Given the description of an element on the screen output the (x, y) to click on. 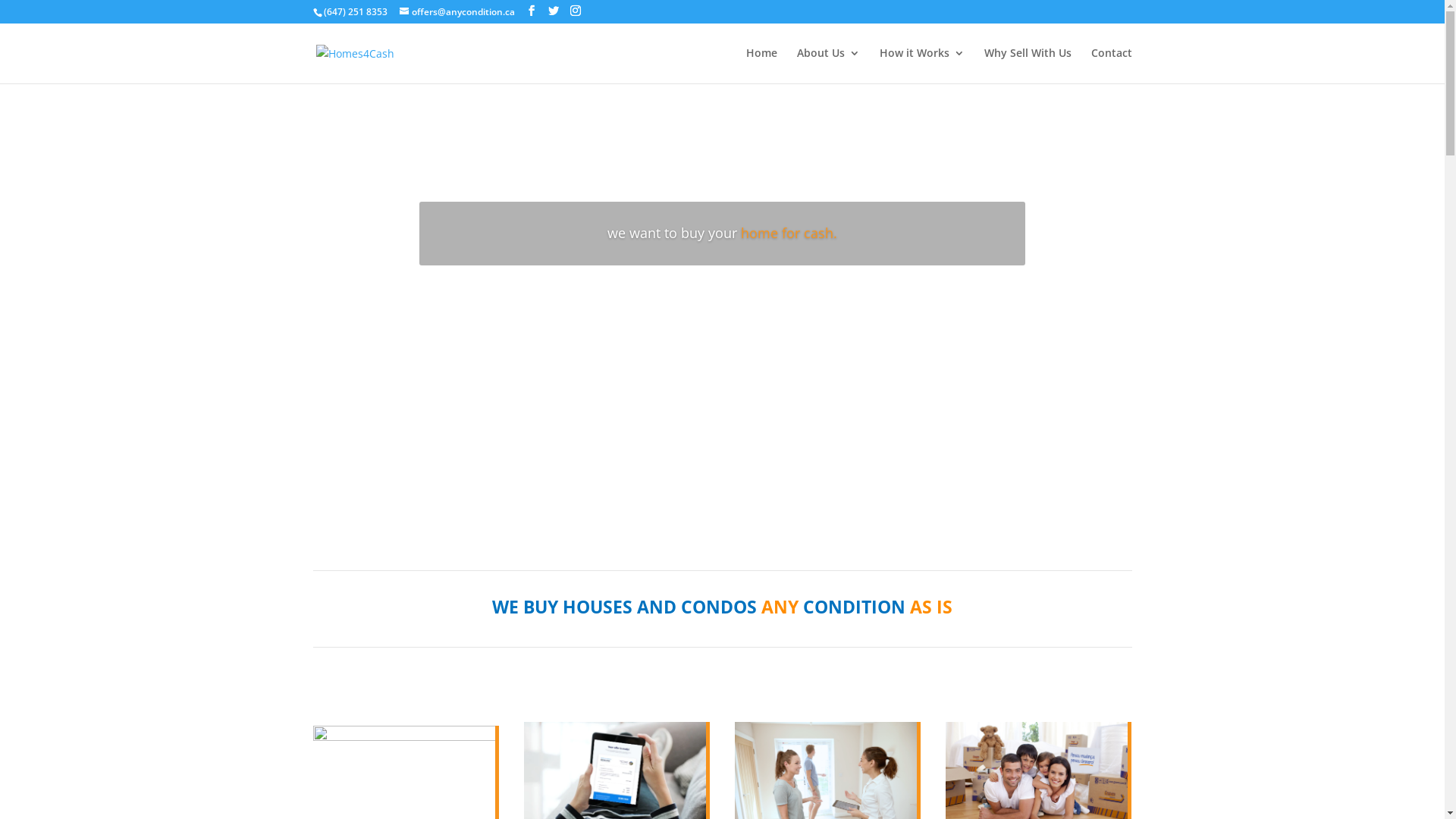
Why Sell With Us Element type: text (1027, 65)
About Us Element type: text (827, 65)
(647) 251 8353 Element type: text (354, 11)
How it Works Element type: text (921, 65)
Contact Element type: text (1110, 65)
Home Element type: text (761, 65)
offers@anycondition.ca Element type: text (456, 11)
